Given the description of an element on the screen output the (x, y) to click on. 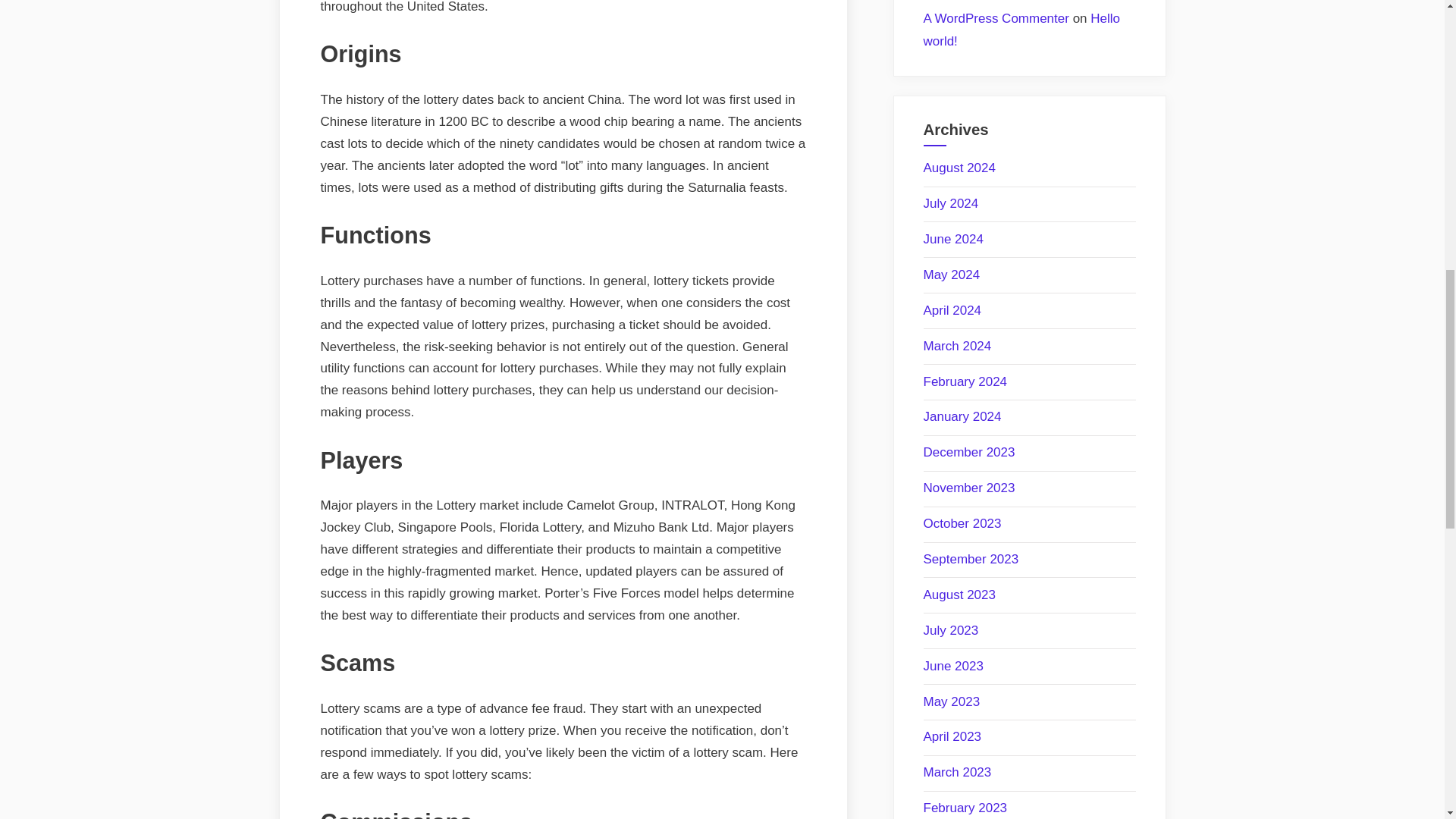
A WordPress Commenter (995, 18)
January 2024 (962, 416)
June 2024 (953, 238)
September 2023 (971, 559)
May 2024 (951, 274)
February 2024 (965, 381)
October 2023 (962, 523)
April 2024 (952, 310)
November 2023 (968, 487)
March 2024 (957, 345)
